Given the description of an element on the screen output the (x, y) to click on. 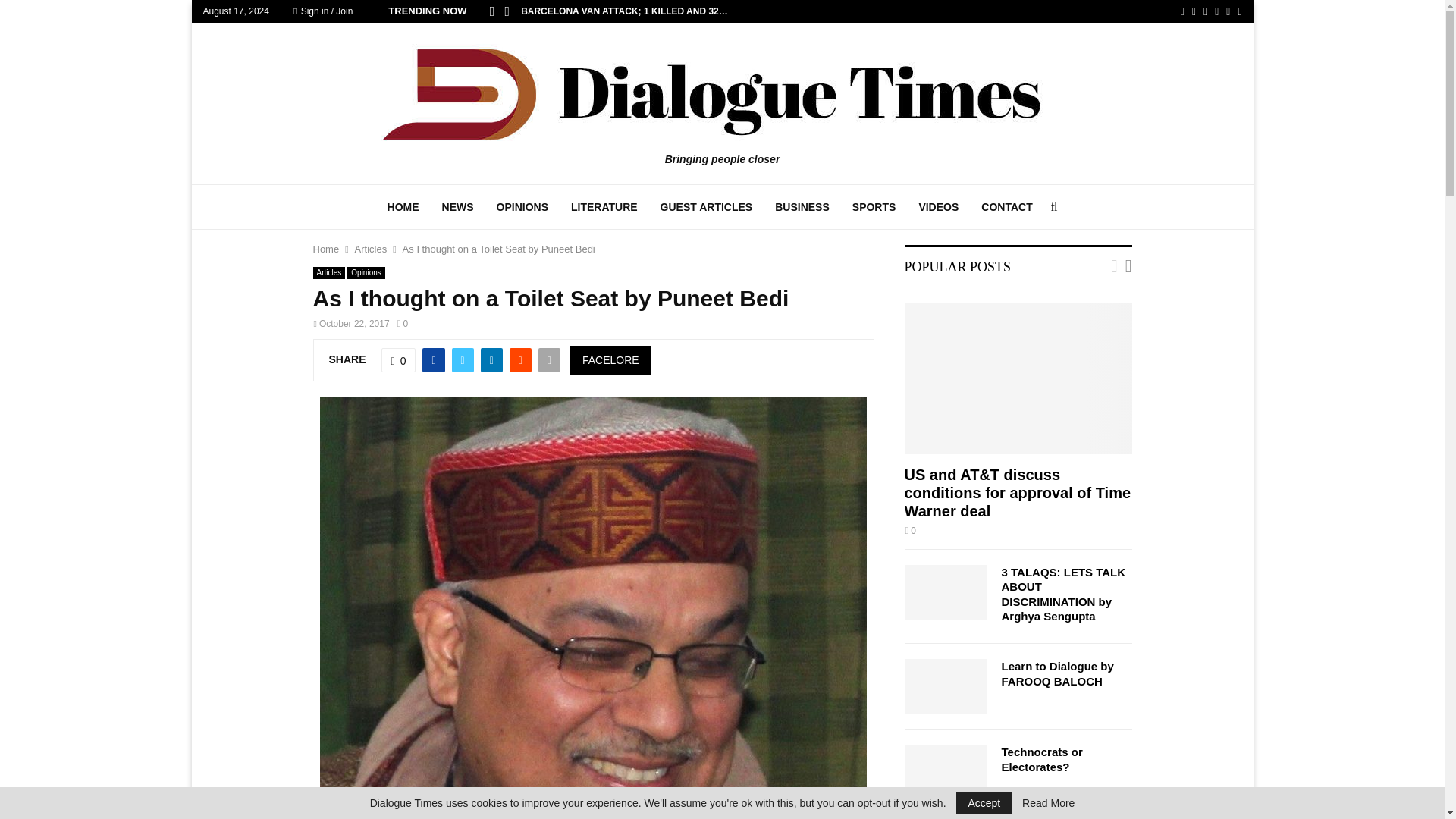
Like (398, 360)
OPINIONS (522, 207)
Sign up new account (722, 527)
Login to your account (722, 293)
LITERATURE (603, 207)
